Given the description of an element on the screen output the (x, y) to click on. 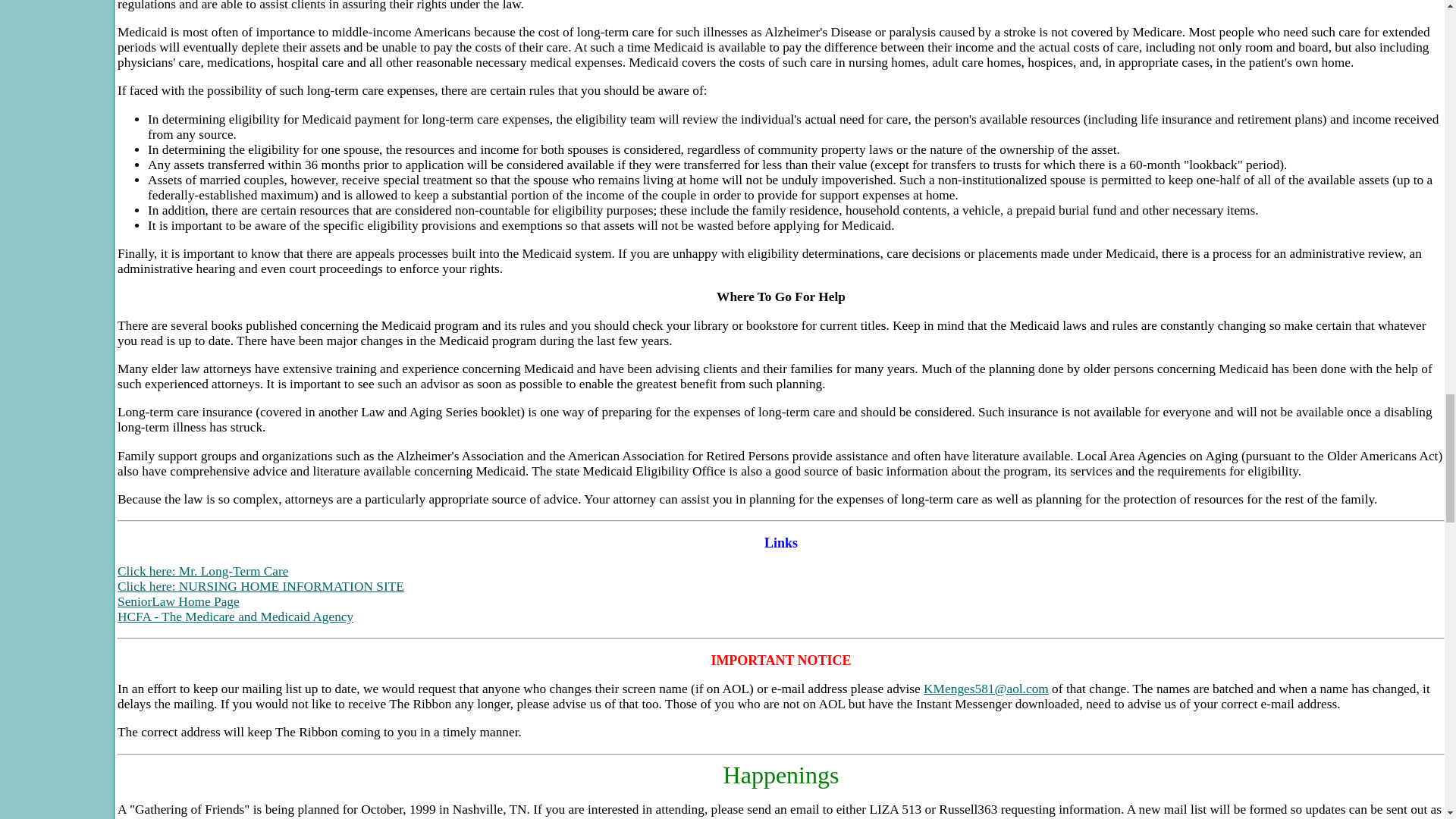
Click here: Mr. Long-Term Care (202, 571)
Click here: NURSING HOME INFORMATION SITE (260, 586)
HCFA - The Medicare and Medicaid Agency (235, 616)
SeniorLaw Home Page (178, 601)
